Given the description of an element on the screen output the (x, y) to click on. 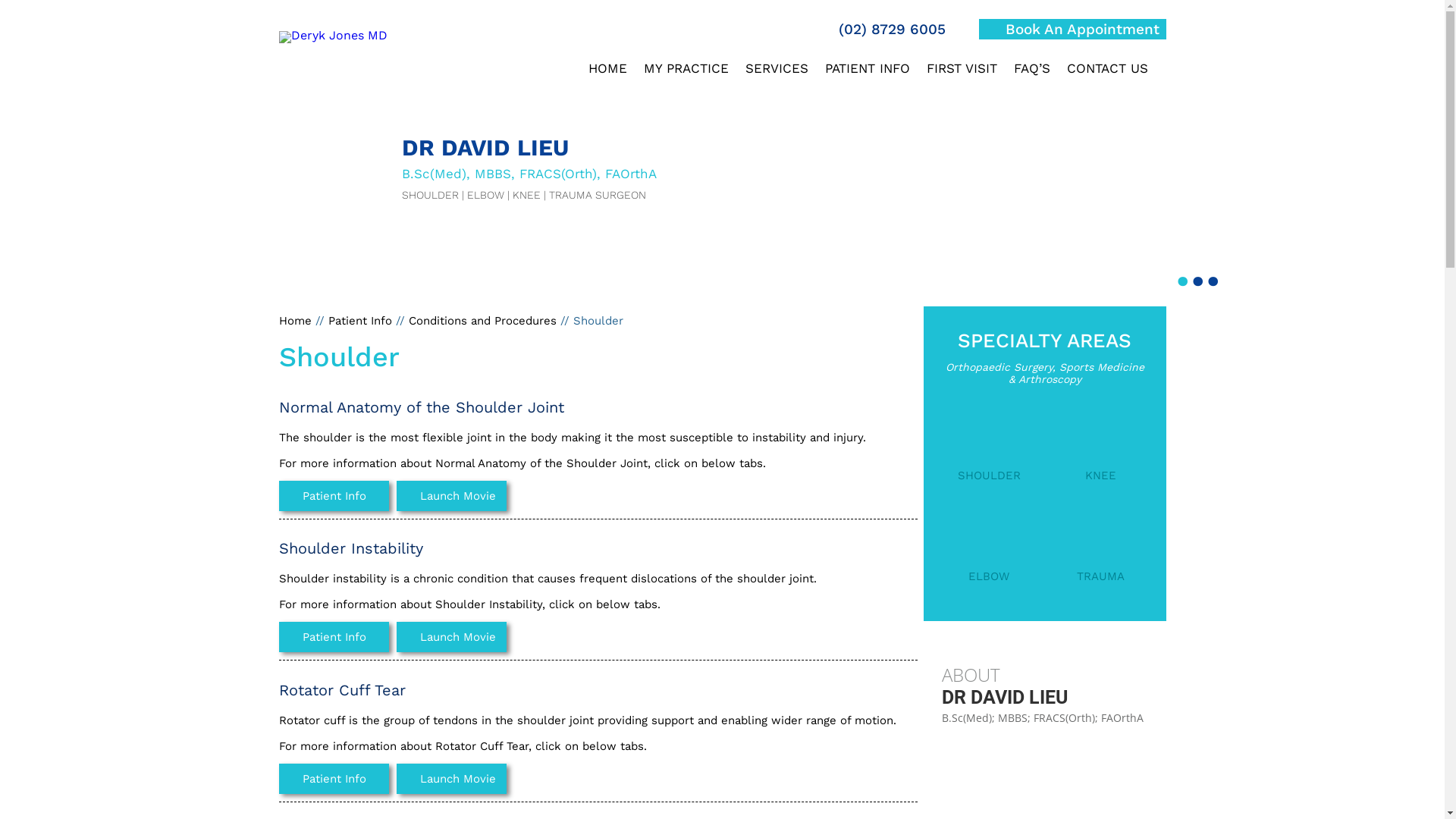
ELBOW Element type: text (988, 555)
Patient Info Element type: text (334, 636)
TRAUMA Element type: text (1100, 555)
Launch Movie Element type: text (450, 778)
DR DAVID LIEU Element type: text (1044, 696)
FIRST VISIT Element type: text (961, 73)
KNEE Element type: text (1100, 454)
DR DAVID LIEU
B.Sc(Med), MBBS, FRACS(Orth), FAOrthA Element type: text (528, 158)
Conditions and Procedures Element type: text (483, 320)
(02) 8729 6005 Element type: text (881, 28)
SPECIALTY AREAS Element type: text (1044, 328)
PATIENT INFO Element type: text (867, 73)
CONTACT US Element type: text (1107, 73)
MY PRACTICE Element type: text (686, 73)
SHOULDER Element type: text (988, 454)
Home Element type: text (295, 320)
Launch Movie Element type: text (450, 636)
HOME Element type: text (607, 73)
Patient Info Element type: text (334, 495)
Patient Info Element type: text (334, 778)
Book An Appointment Element type: text (1071, 28)
Launch Movie Element type: text (450, 495)
SERVICES Element type: text (776, 73)
Patient Info Element type: text (359, 320)
To Know More About Dr David Lieu Element type: hover (333, 35)
